Given the description of an element on the screen output the (x, y) to click on. 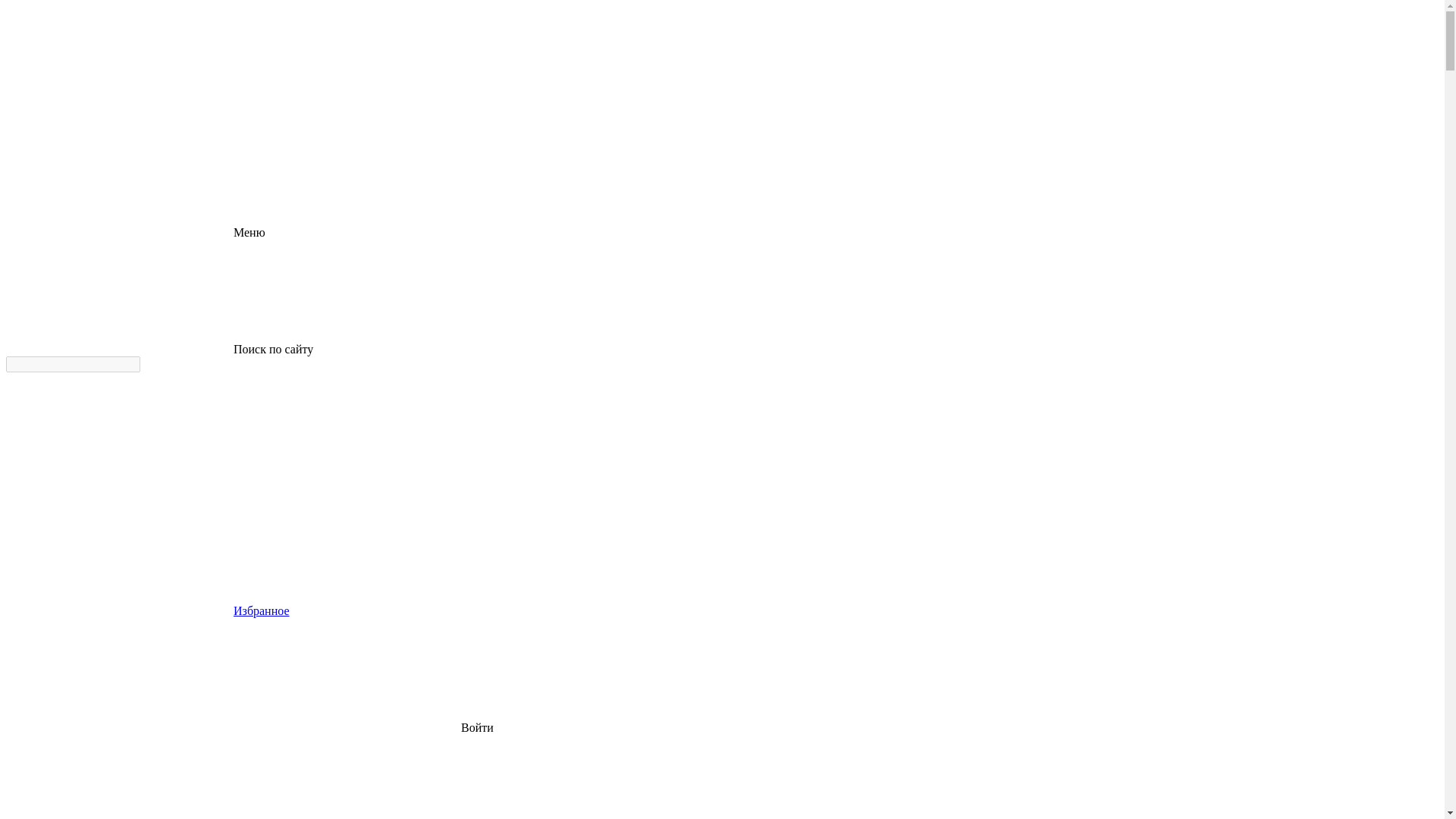
logo Element type: hover (119, 115)
logo Element type: hover (119, 62)
